Given the description of an element on the screen output the (x, y) to click on. 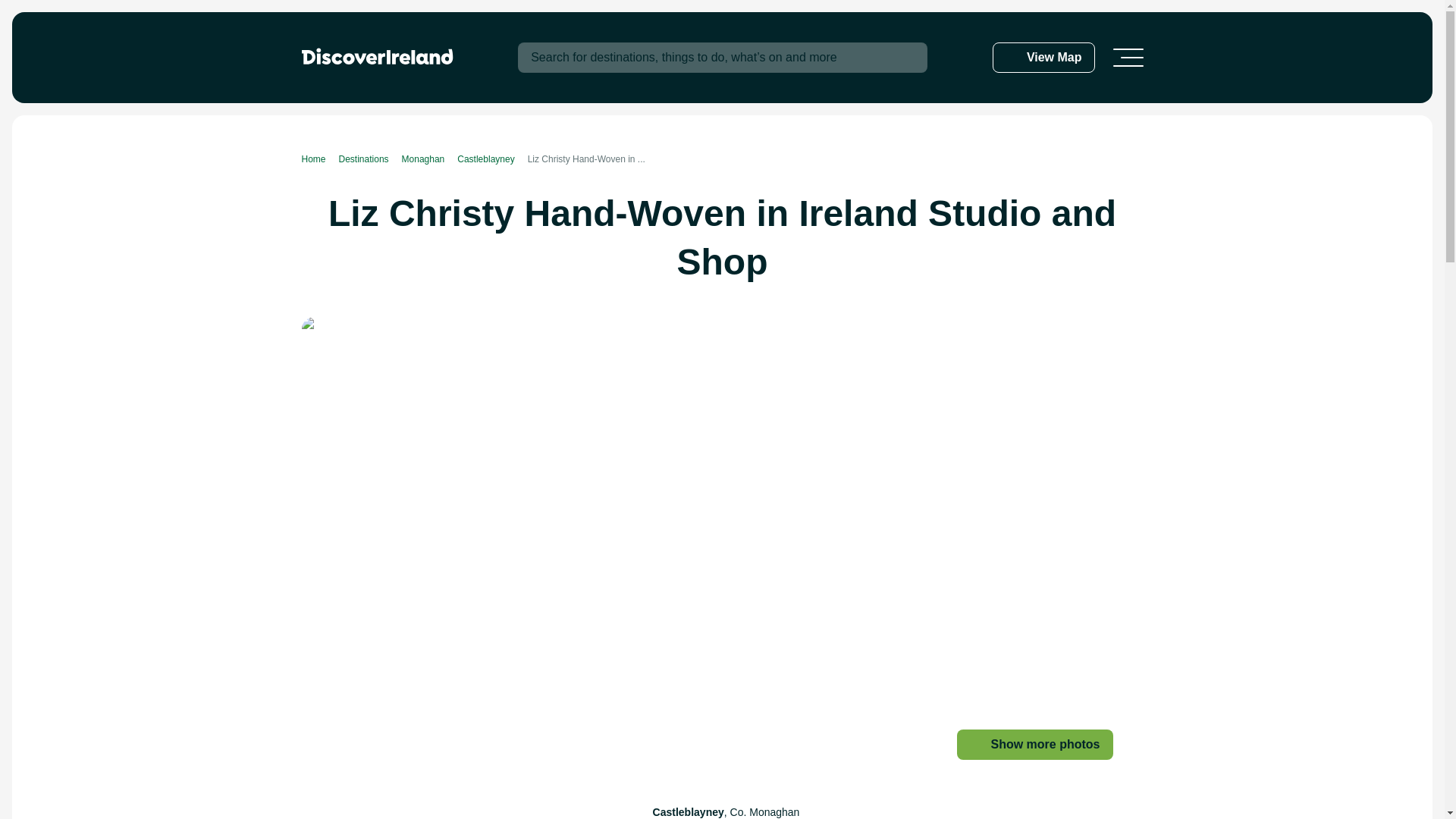
Click to go back to the homepage (376, 55)
View Map (1043, 57)
